Given the description of an element on the screen output the (x, y) to click on. 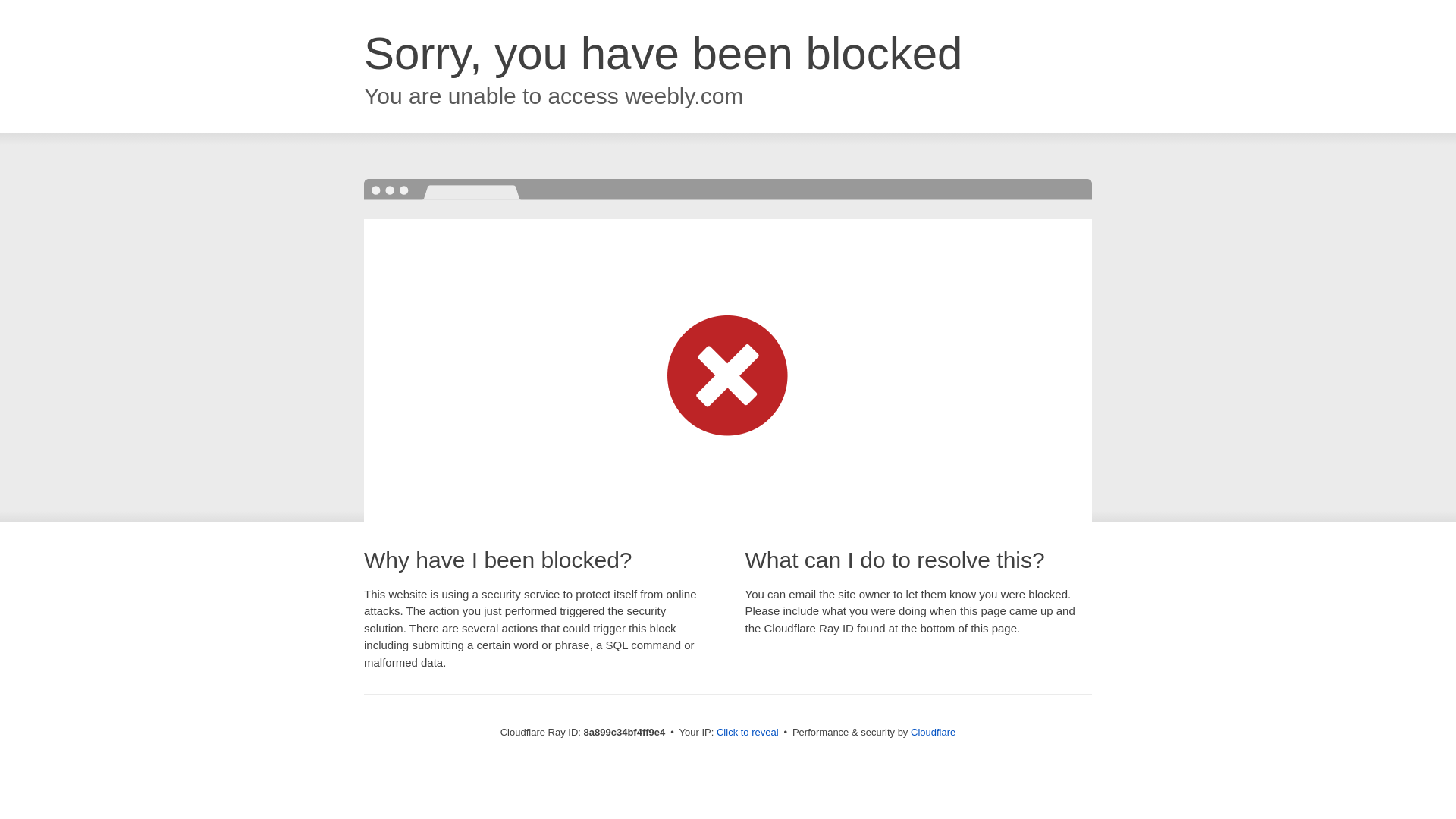
Cloudflare (933, 731)
Click to reveal (747, 732)
